Given the description of an element on the screen output the (x, y) to click on. 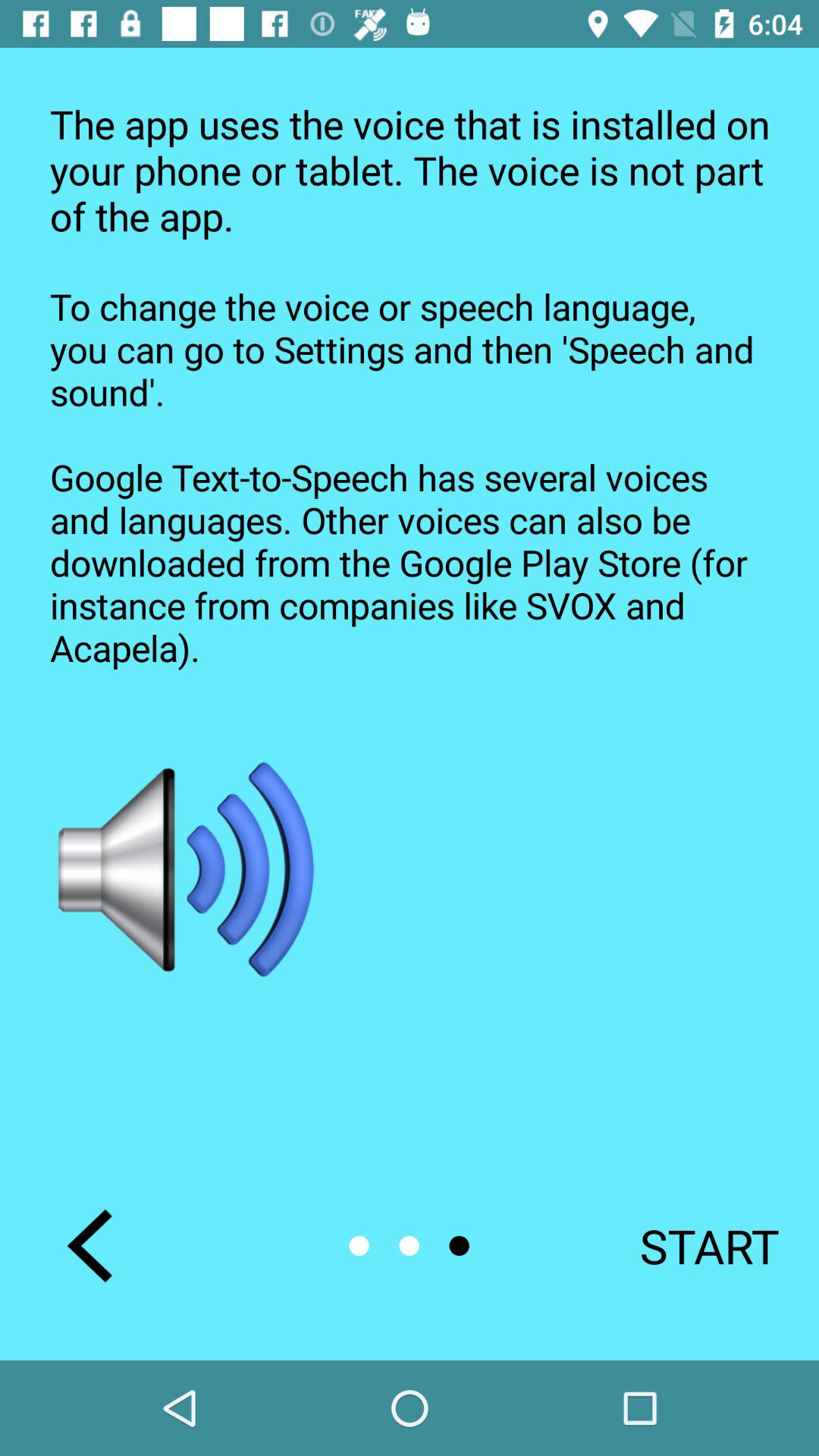
tap start button (689, 1245)
